Given the description of an element on the screen output the (x, y) to click on. 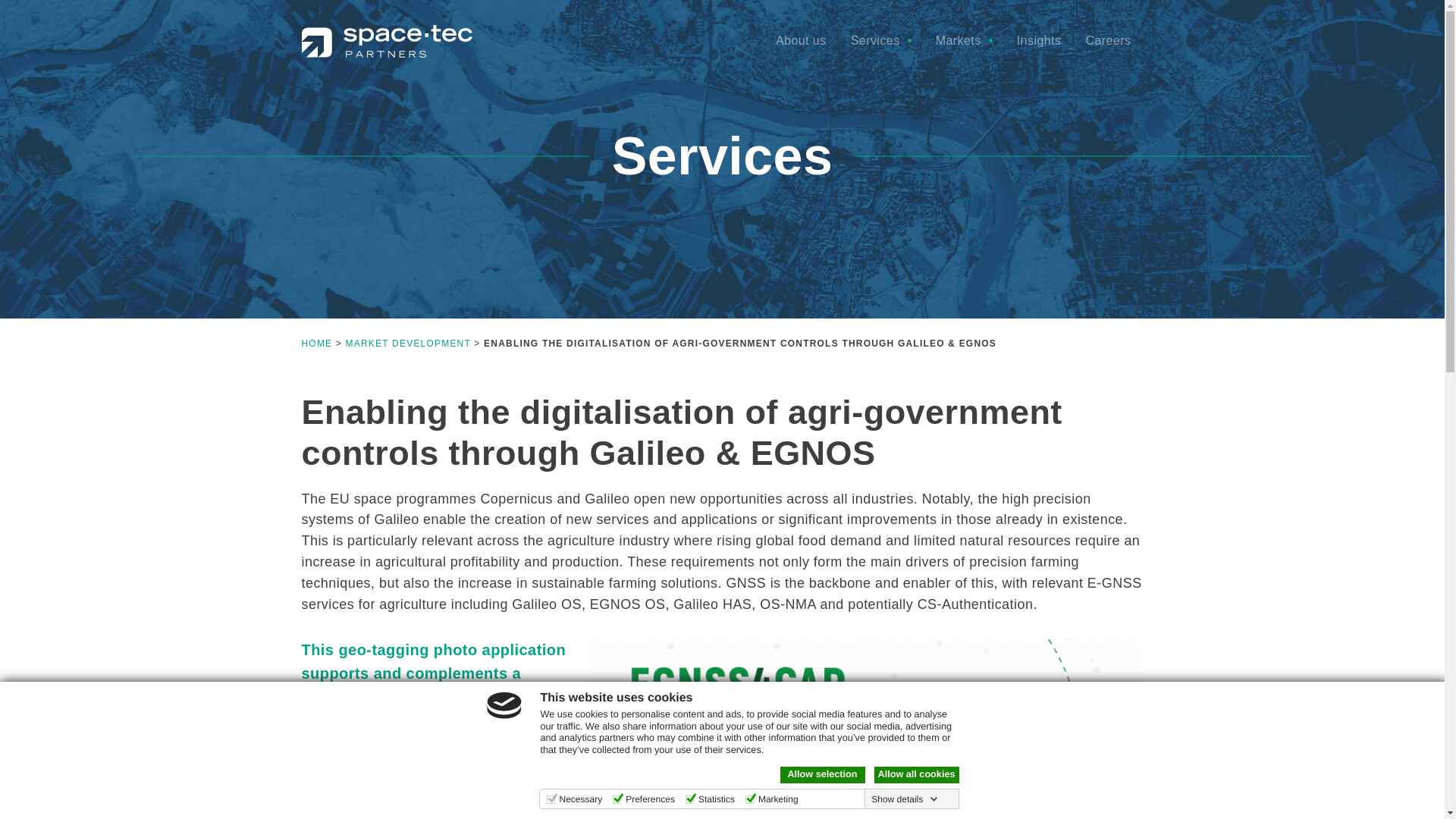
Allow all cookies (915, 774)
Show details (903, 799)
Allow selection (821, 774)
